Given the description of an element on the screen output the (x, y) to click on. 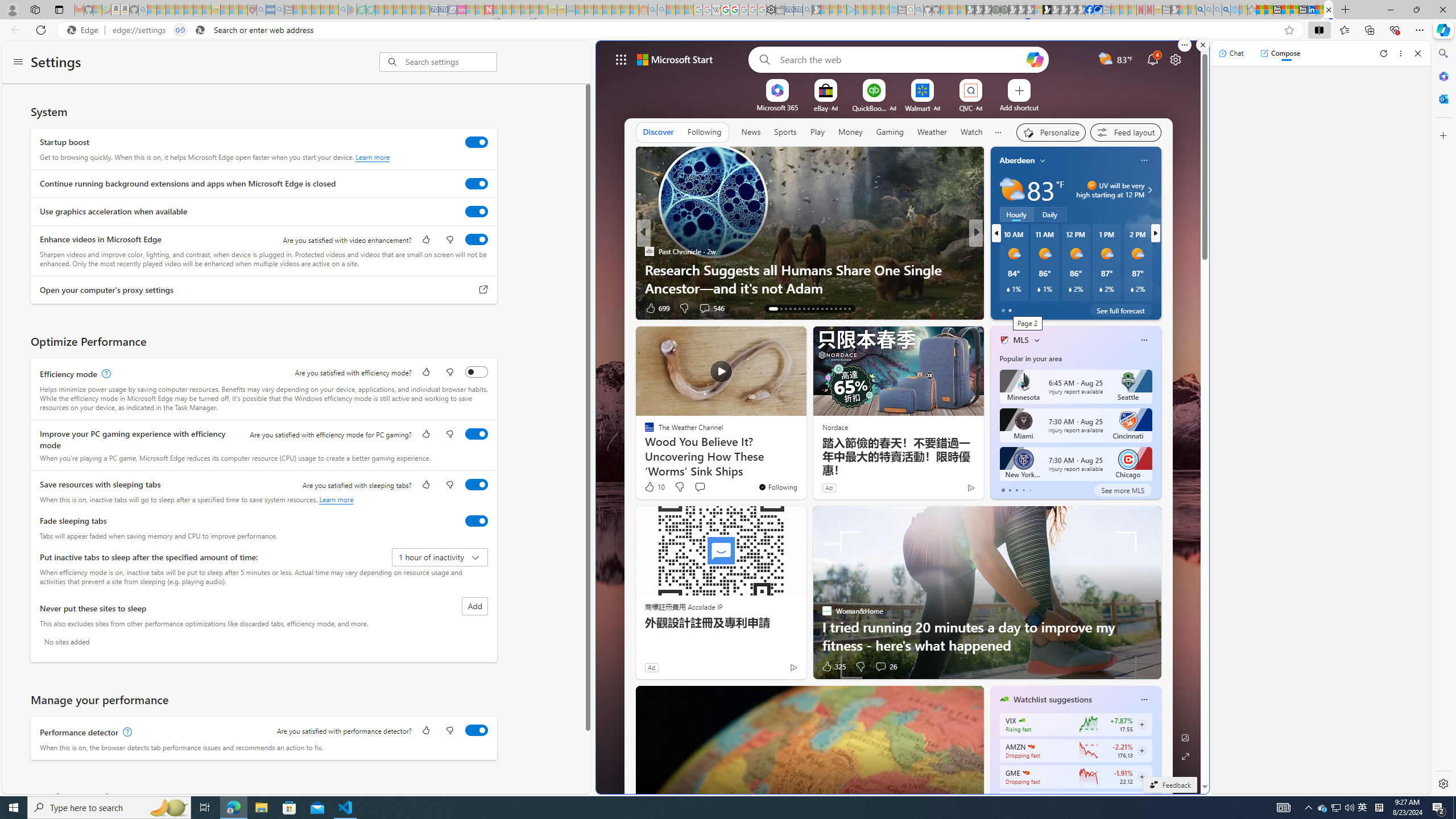
Close Customize pane (1442, 135)
12 Lies You Were Told About Space (1159, 287)
Microsoft Start Gaming - Sleeping (815, 9)
Performance detector (476, 730)
Play (817, 132)
Future Focus Report 2024 - Sleeping (1004, 9)
Geography Facts Most People Get Wrong (1159, 287)
Like (425, 731)
Settings menu (18, 62)
